Given the description of an element on the screen output the (x, y) to click on. 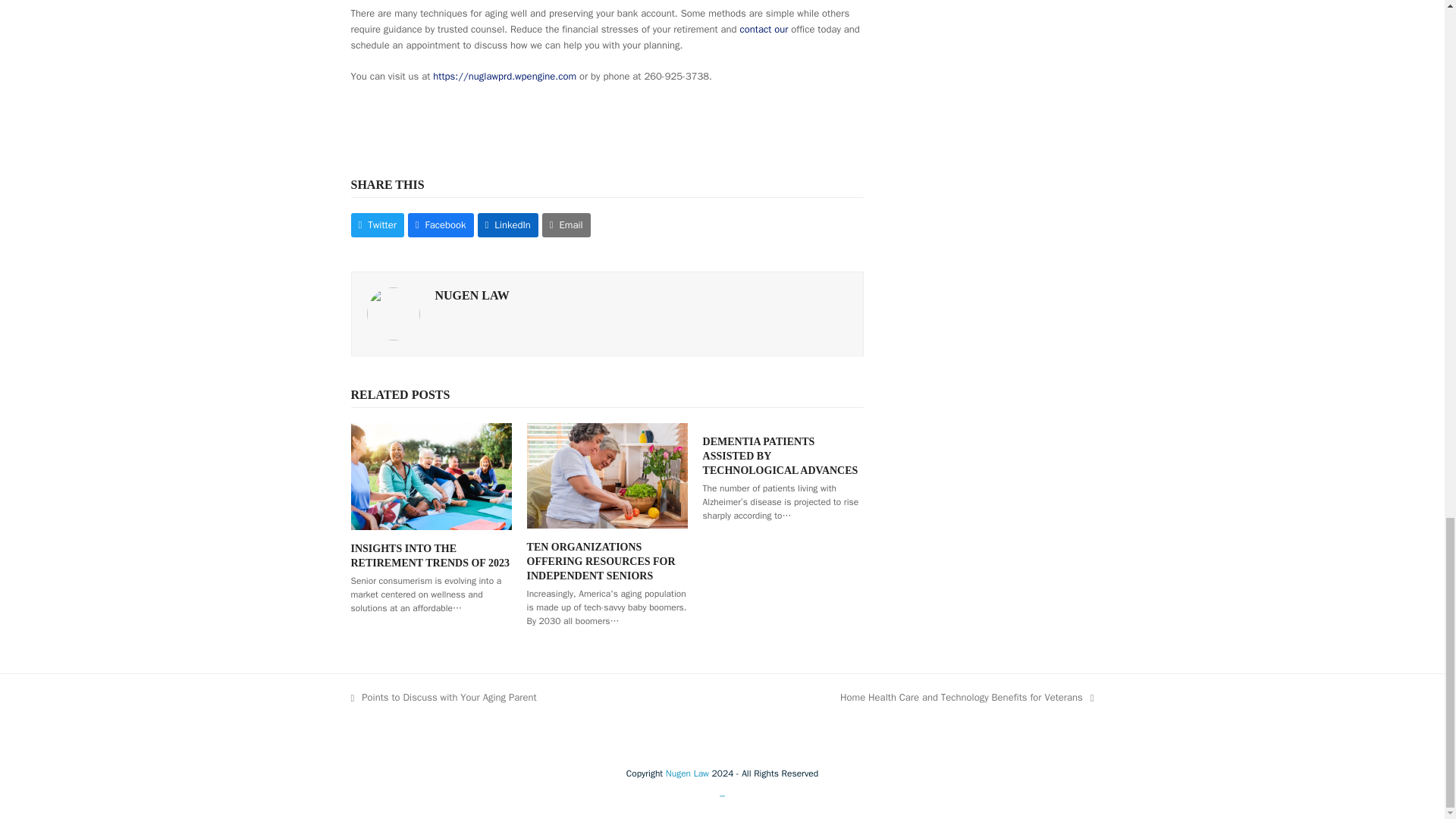
Twitter (376, 224)
Visit Author Page (393, 312)
Insights into the Retirement Trends of 2023 (430, 474)
contact our (763, 29)
Visit Author Page (472, 294)
Ten Organizations Offering Resources for Independent Seniors (607, 473)
Facebook (440, 224)
